Given the description of an element on the screen output the (x, y) to click on. 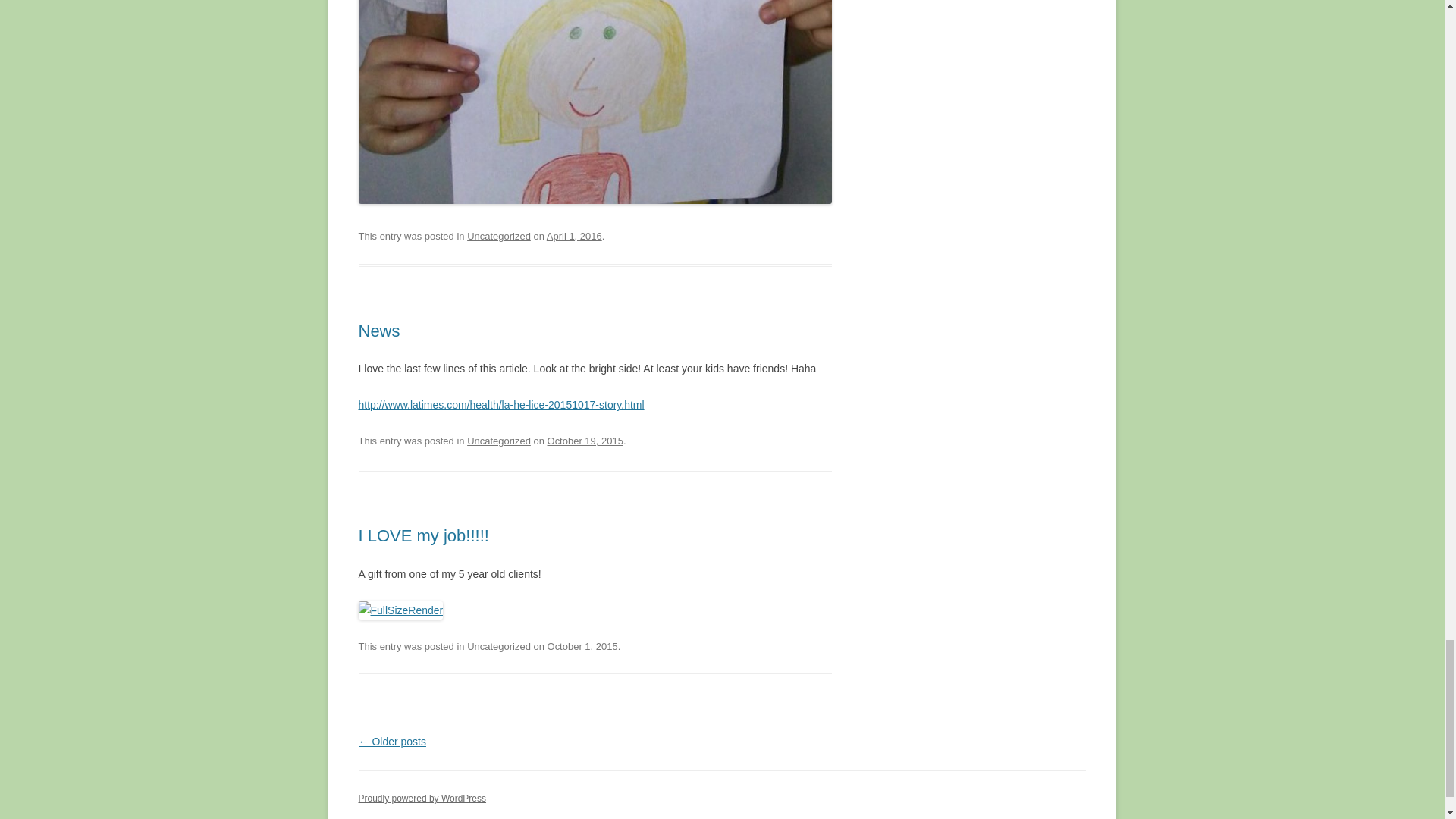
11:54 am (574, 235)
2:57 pm (585, 440)
